Given the description of an element on the screen output the (x, y) to click on. 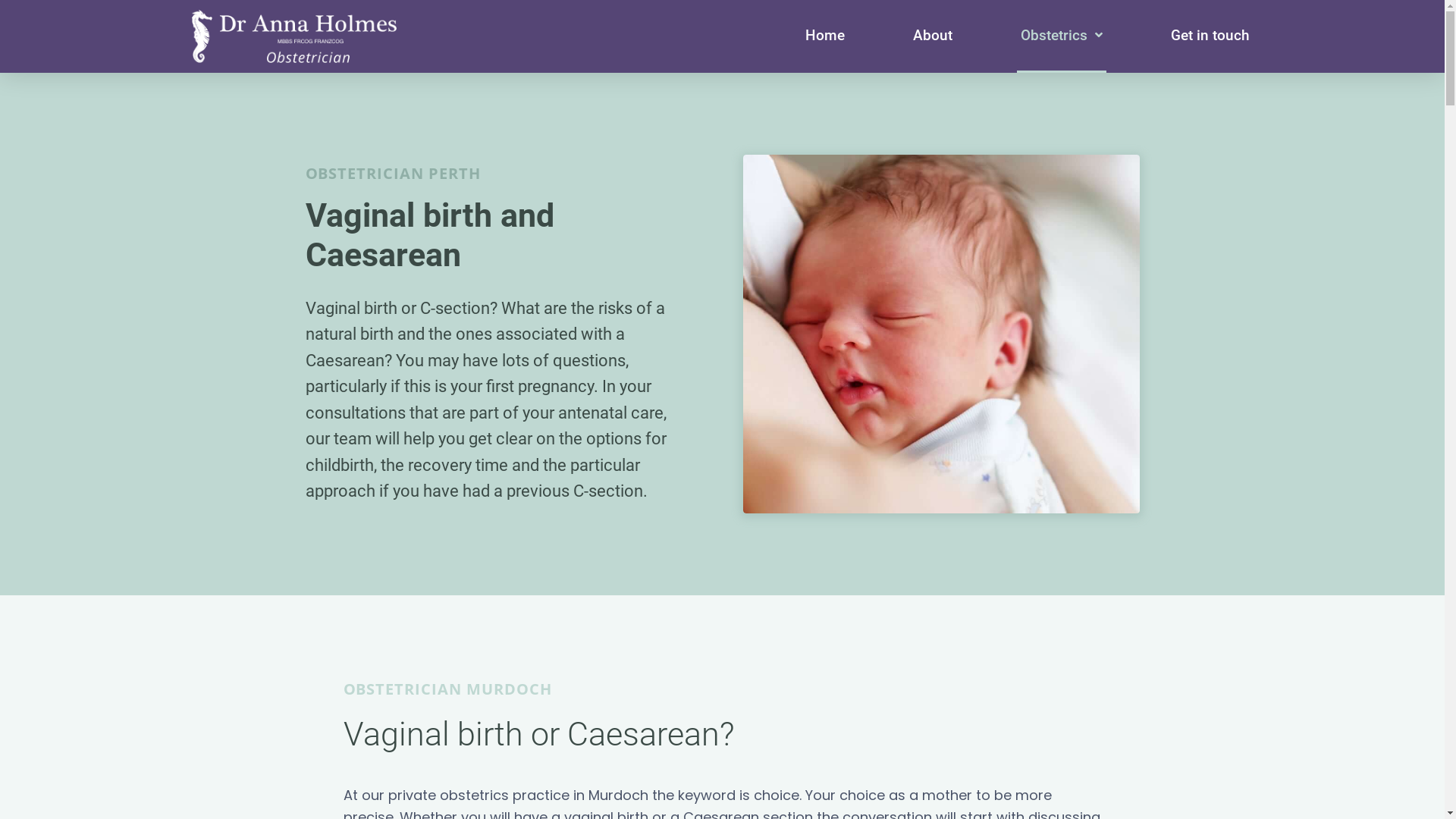
About Element type: text (931, 36)
Get in touch Element type: text (1209, 36)
Home Element type: text (823, 36)
Obstetrics Element type: text (1060, 36)
